Given the description of an element on the screen output the (x, y) to click on. 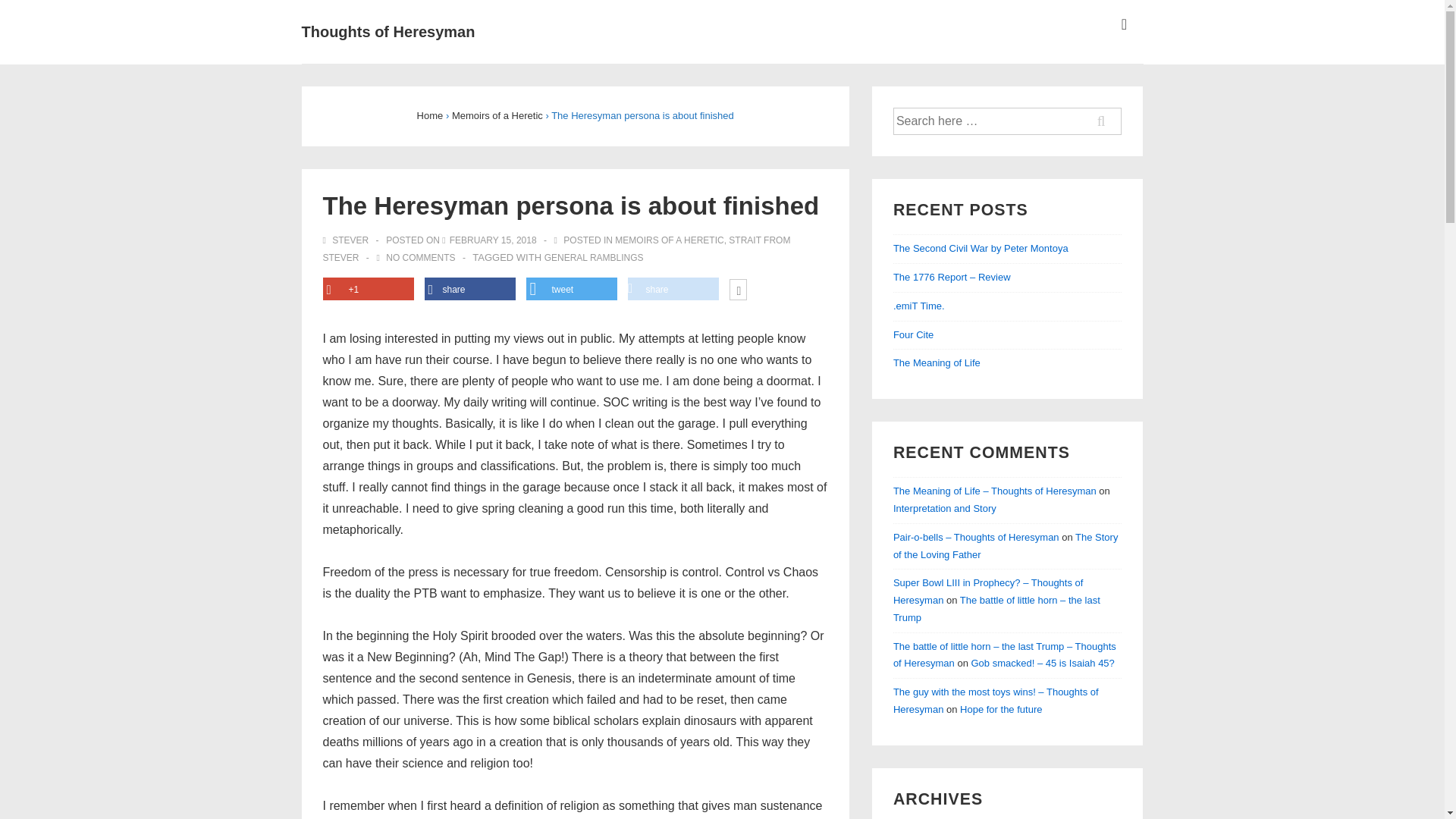
Thoughts of Heresyman (388, 31)
GENERAL RAMBLINGS (593, 257)
NO COMMENTS (419, 257)
Interpretation and Story (944, 508)
STRAIT FROM STEVER (556, 248)
share (470, 289)
Share on Facebook (470, 289)
MENU (1123, 24)
tweet (571, 289)
The Story of the Loving Father (1005, 545)
